Given the description of an element on the screen output the (x, y) to click on. 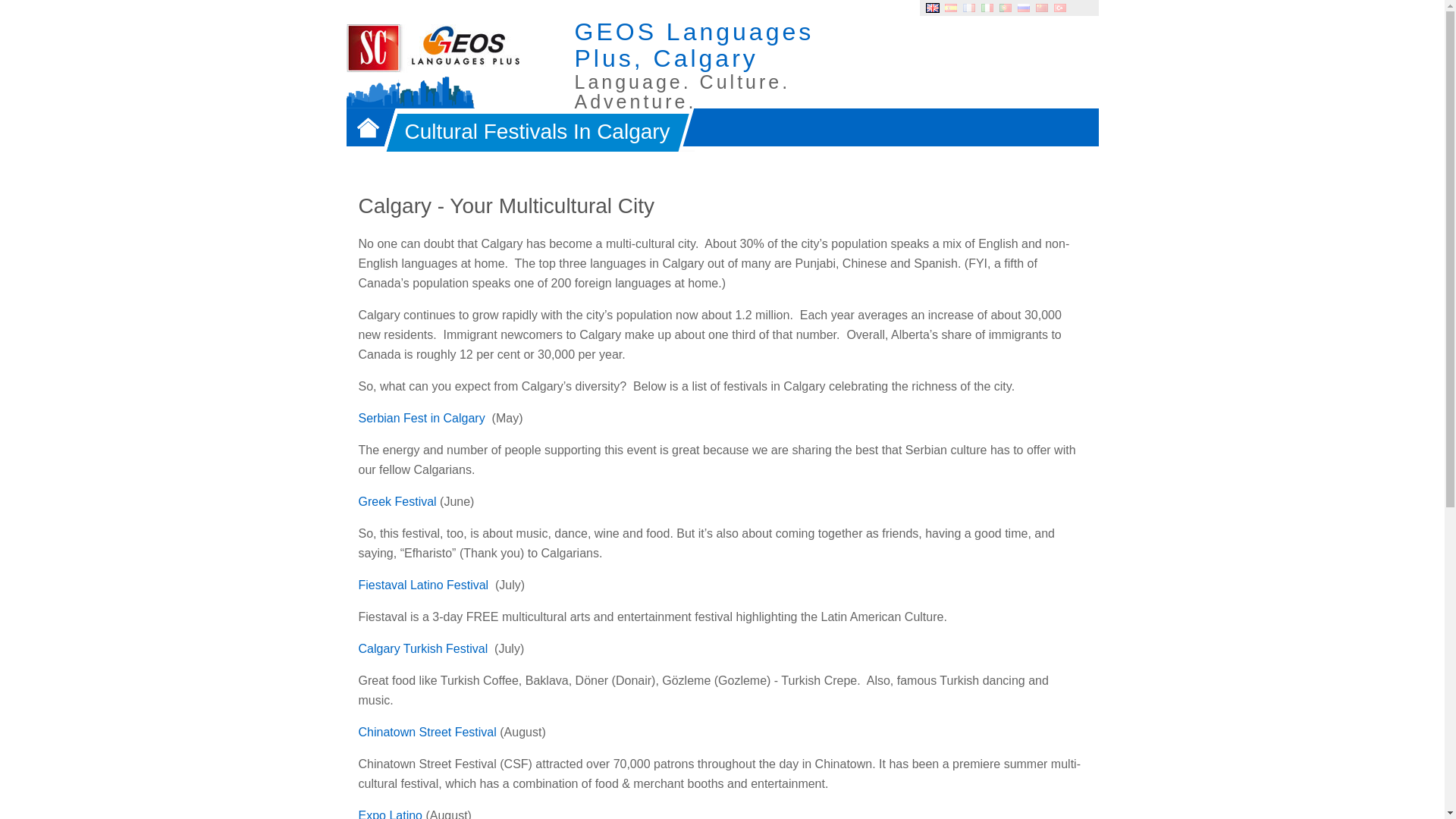
Serbian Fest in Calgary (421, 418)
Chinatown, Calgary (427, 731)
Calgary Turkish Festival (422, 648)
Cultural Festivals In Calgary (531, 129)
Chinatown Street Festival (427, 731)
Expo Latino (390, 814)
Fiestaval Latino Festival (422, 584)
Greek Festival (396, 501)
Expo Latino (390, 814)
